Given the description of an element on the screen output the (x, y) to click on. 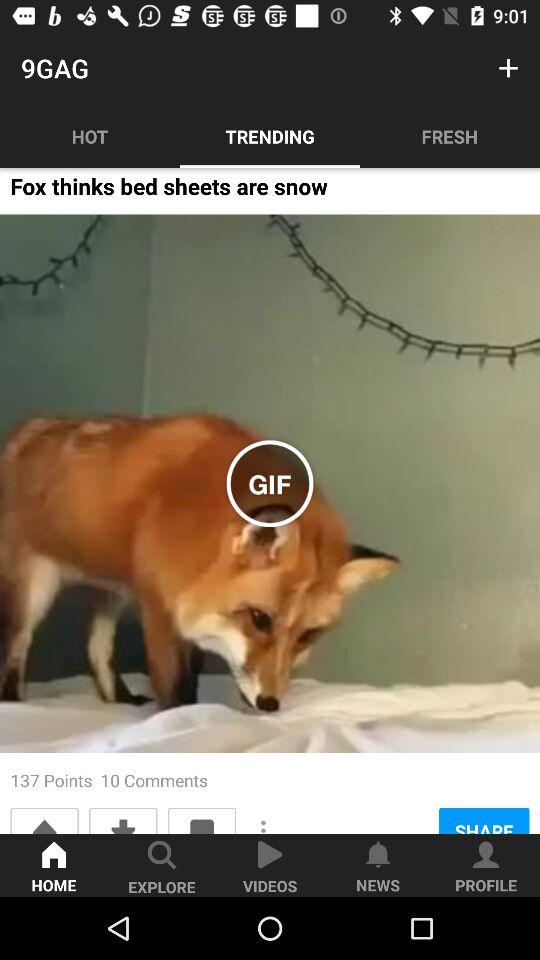
open the item below the 137 points 	10 item (123, 820)
